Given the description of an element on the screen output the (x, y) to click on. 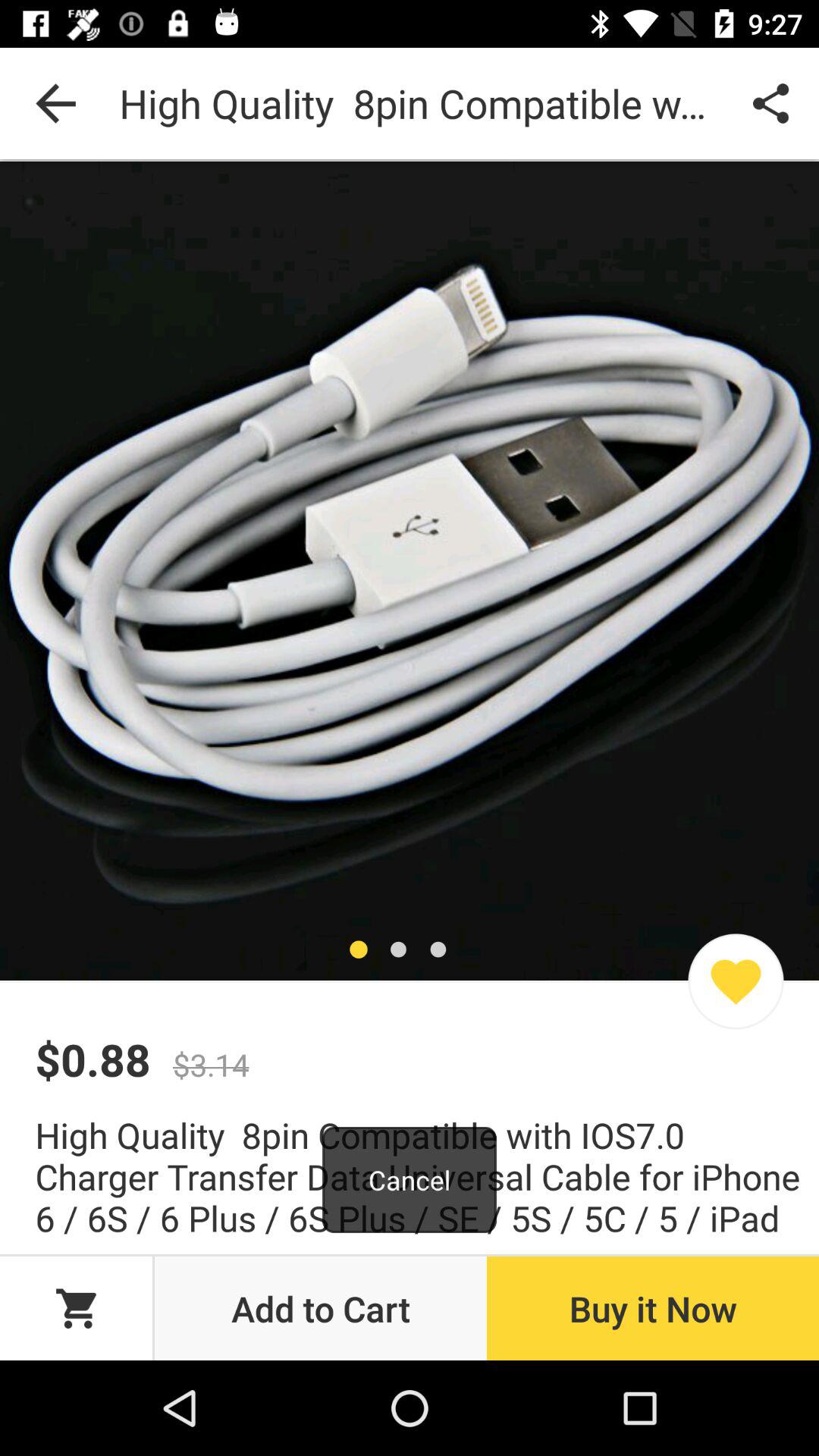
click the bottom center   add to cart (320, 1307)
select the text which is at the right of the text add to cart (652, 1307)
select favorites icon which is at the bottom of the image (735, 981)
